Given the description of an element on the screen output the (x, y) to click on. 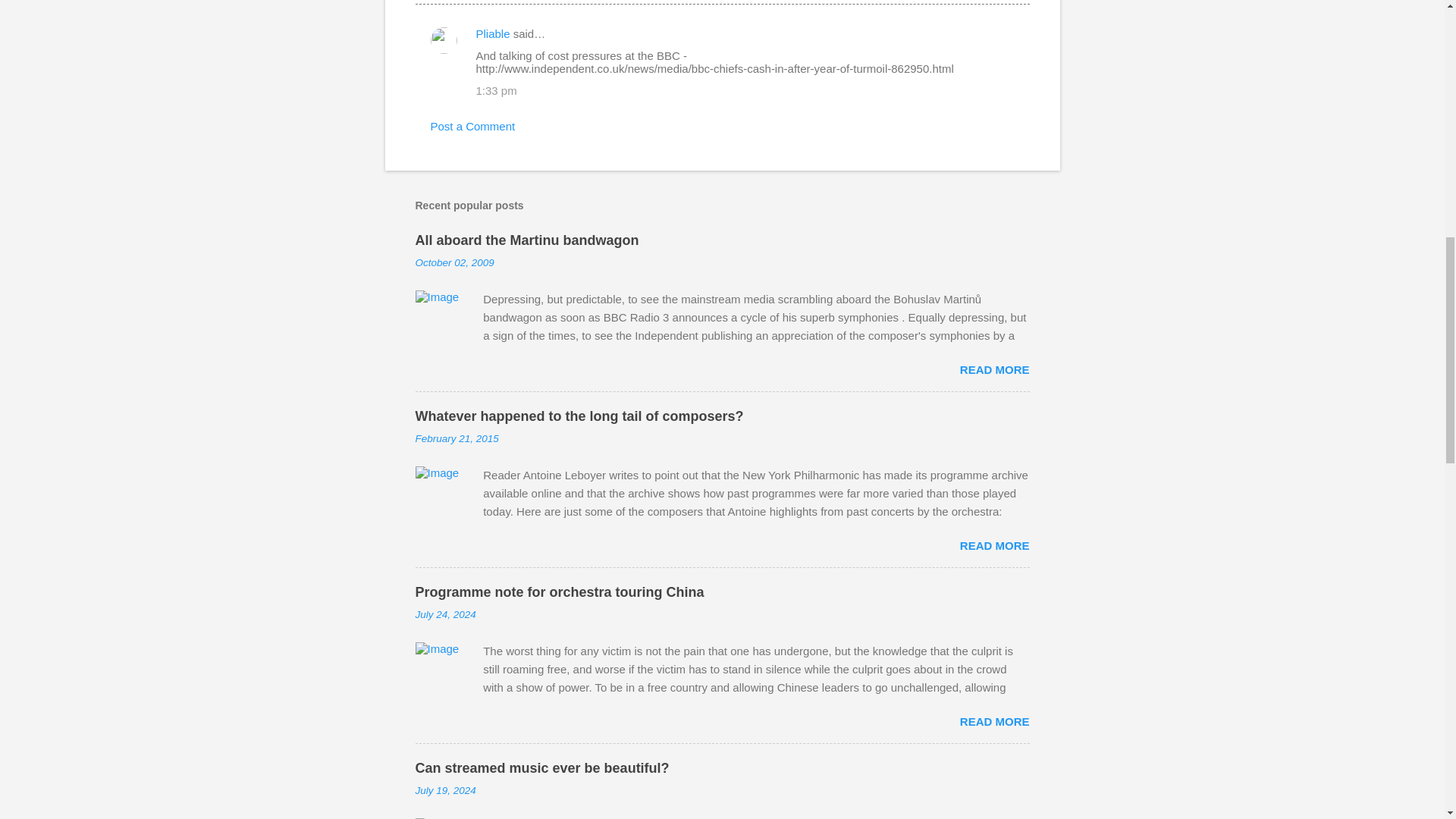
Pliable (493, 33)
All aboard the Martinu bandwagon (526, 240)
1:33 pm (496, 90)
Post a Comment (472, 125)
comment permalink (496, 90)
